Given the description of an element on the screen output the (x, y) to click on. 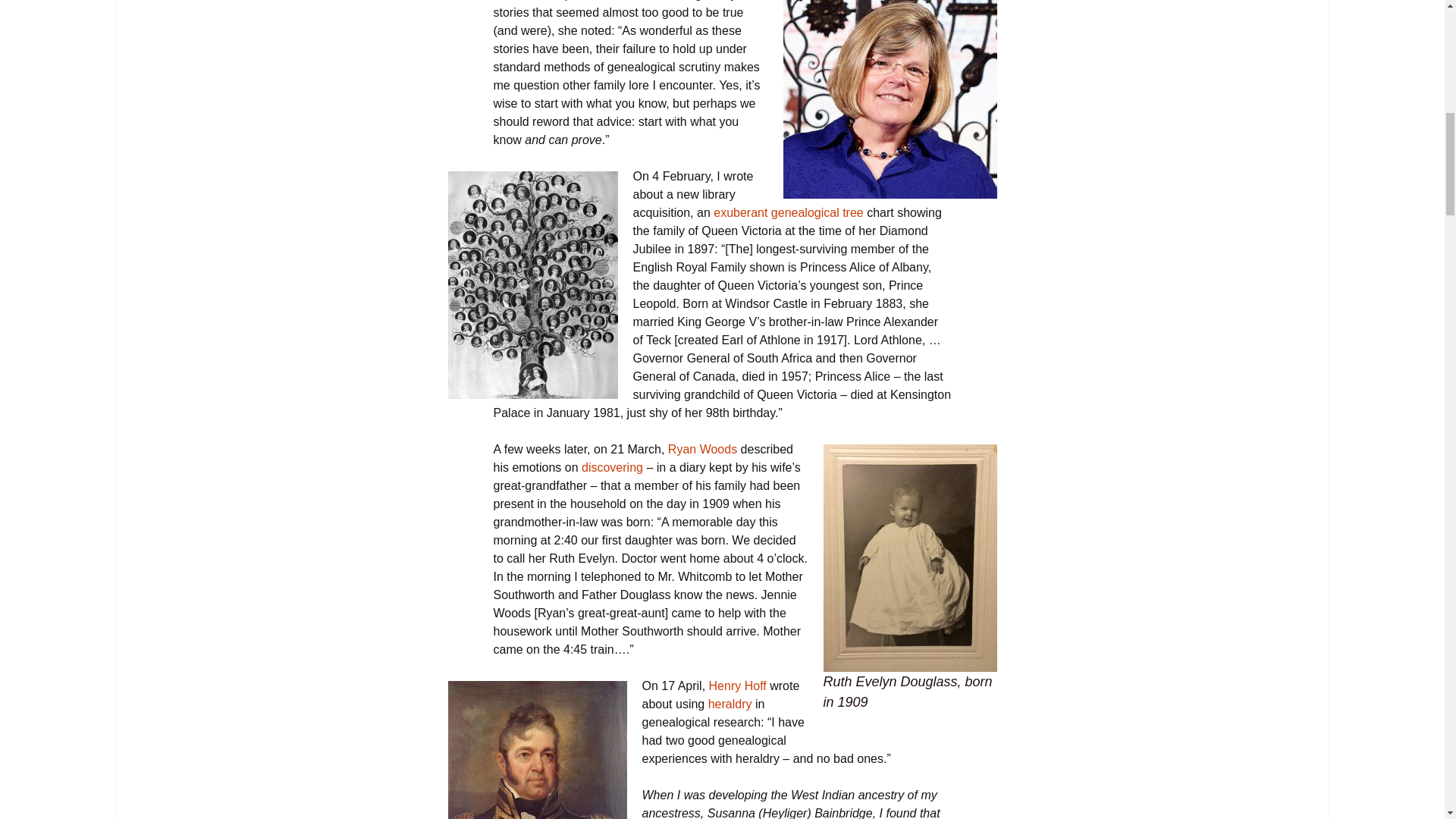
heraldry (729, 703)
Ryan Woods (702, 449)
discovering (611, 467)
exuberant genealogical tree (788, 212)
Henry Hoff (738, 685)
